Given the description of an element on the screen output the (x, y) to click on. 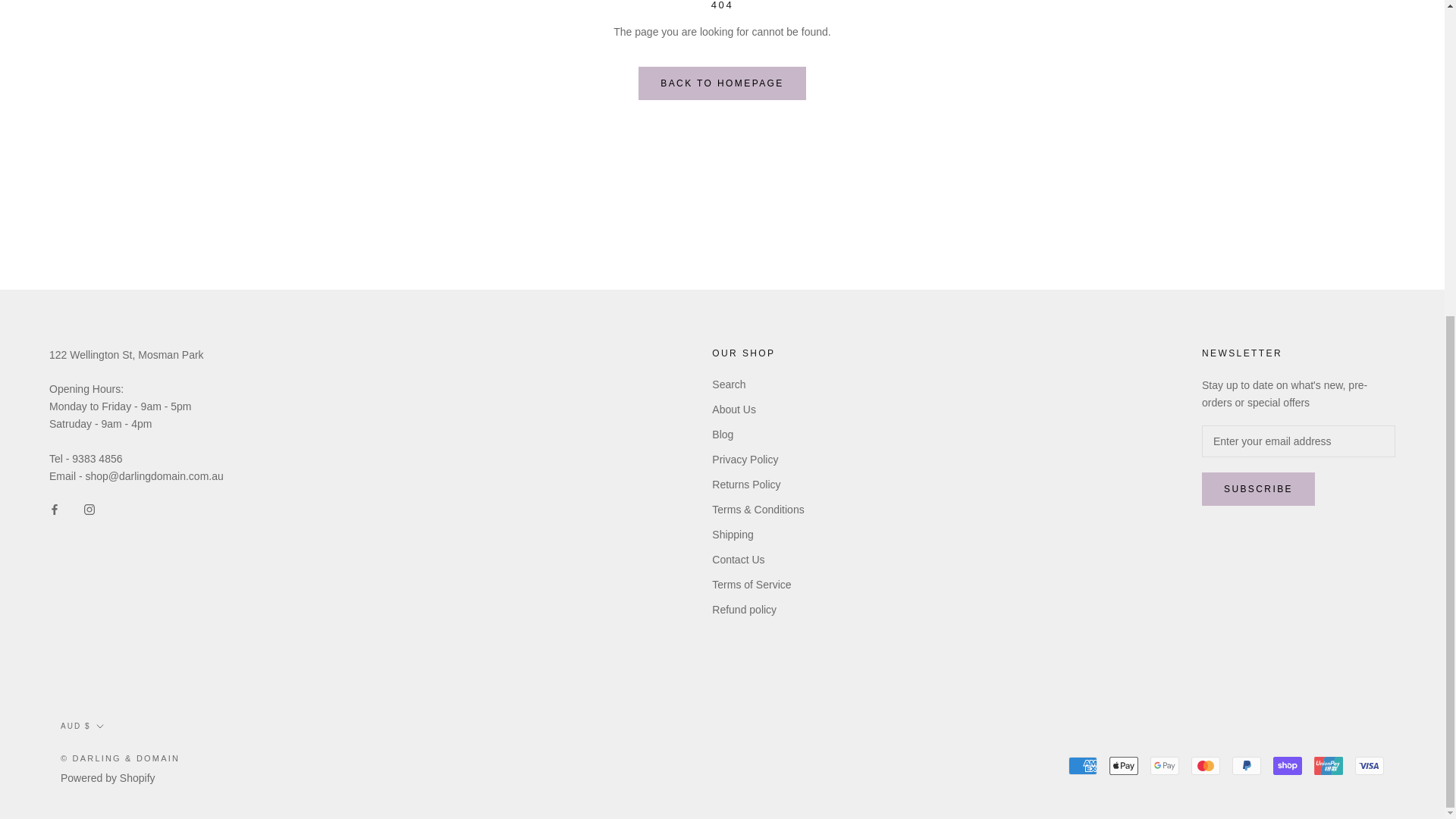
PayPal (1245, 765)
American Express (1082, 765)
Apple Pay (1123, 765)
Google Pay (1164, 765)
Mastercard (1205, 765)
Shop Pay (1286, 765)
Union Pay (1328, 765)
Visa (1369, 765)
